Given the description of an element on the screen output the (x, y) to click on. 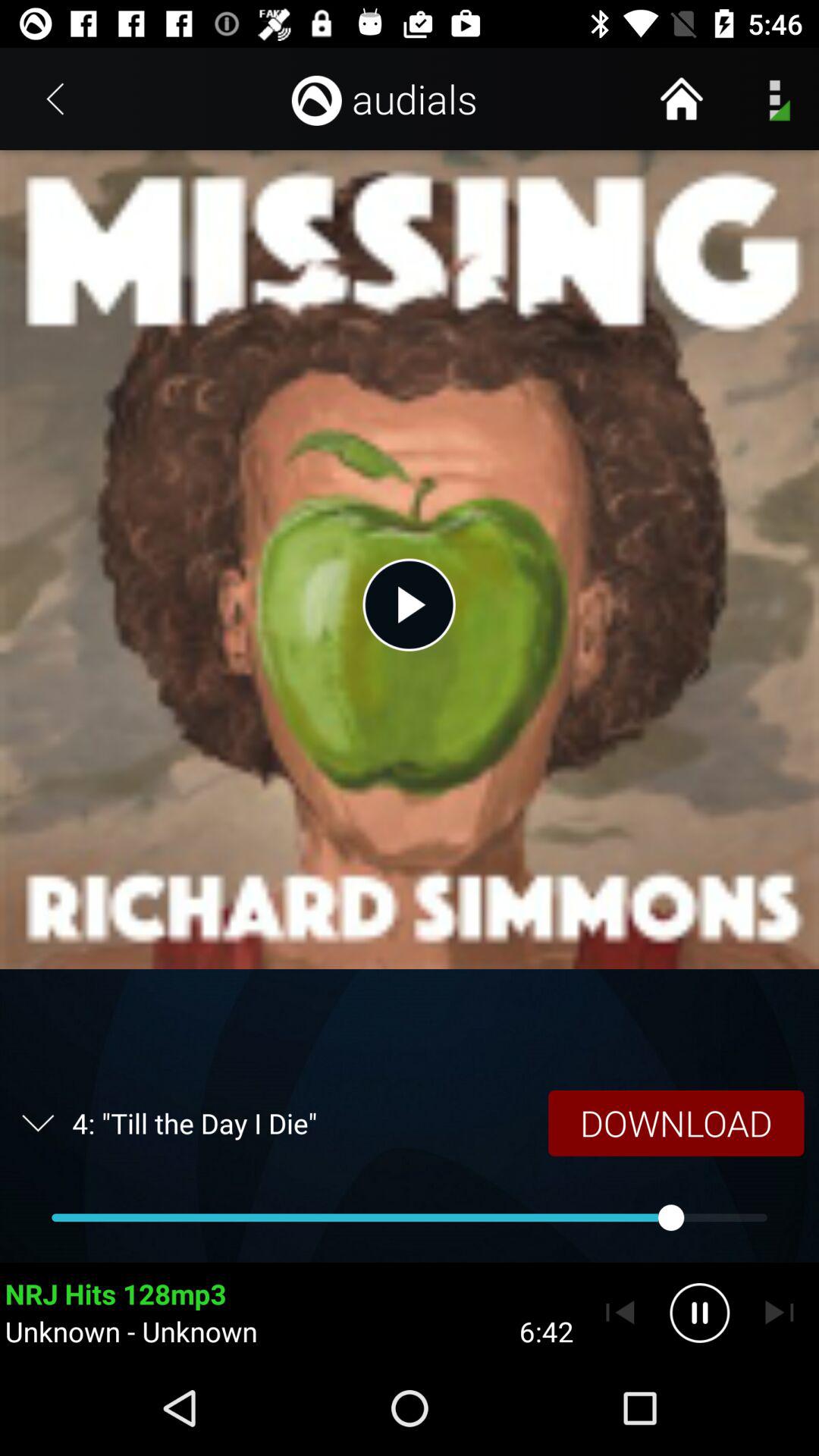
skip song (779, 1312)
